Given the description of an element on the screen output the (x, y) to click on. 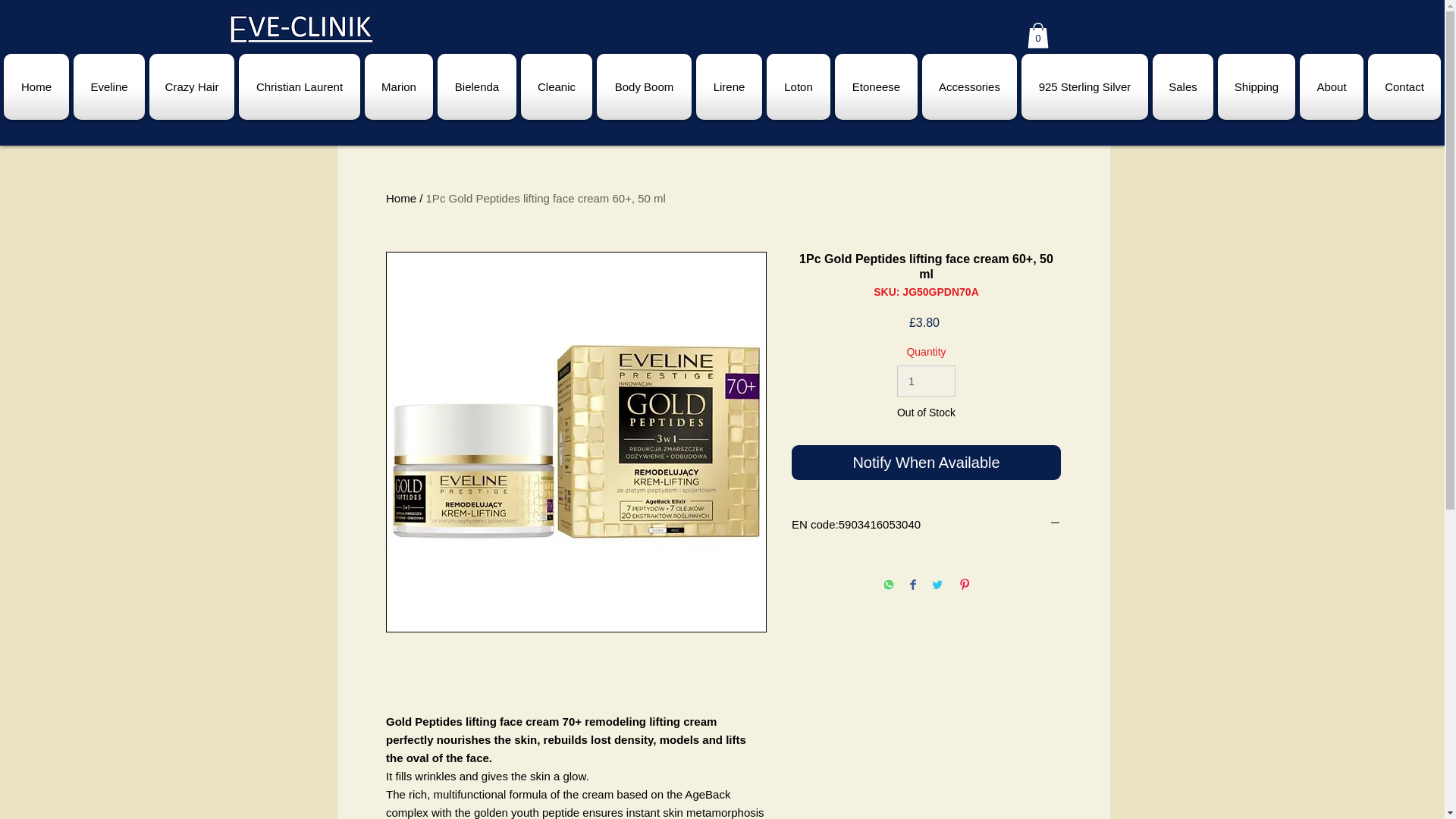
Lirene (729, 86)
Marion (398, 86)
Accessories (969, 86)
EN code:5903416053040 (926, 524)
Contact (1403, 86)
Eveline (109, 86)
Body Boom (644, 86)
Etoneese (876, 86)
Shipping (1256, 86)
Cleanic (556, 86)
